Given the description of an element on the screen output the (x, y) to click on. 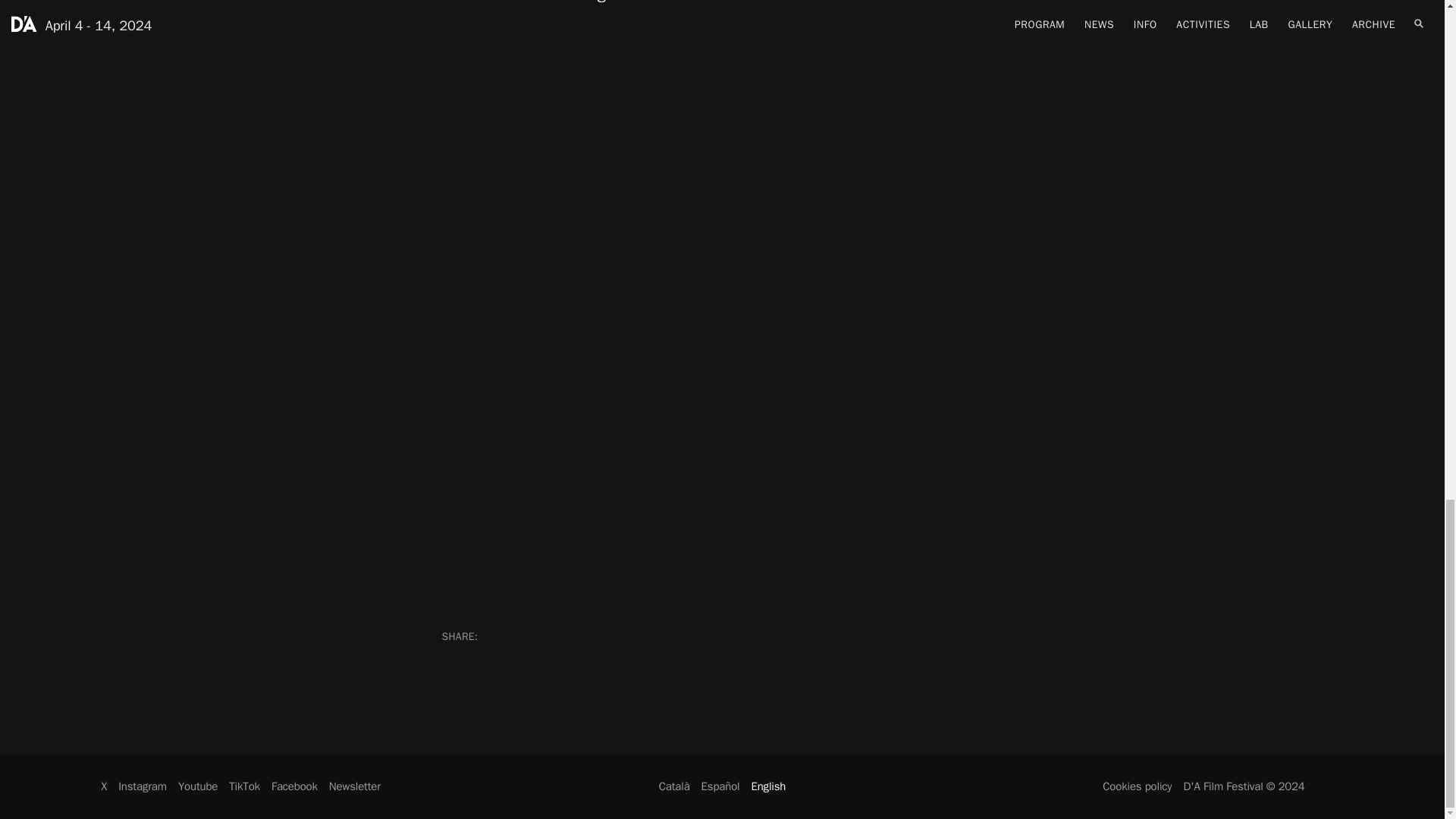
Newsletter (354, 786)
Facebook (293, 786)
TikTok (244, 786)
Youtube (196, 786)
Instagram (142, 786)
